Given the description of an element on the screen output the (x, y) to click on. 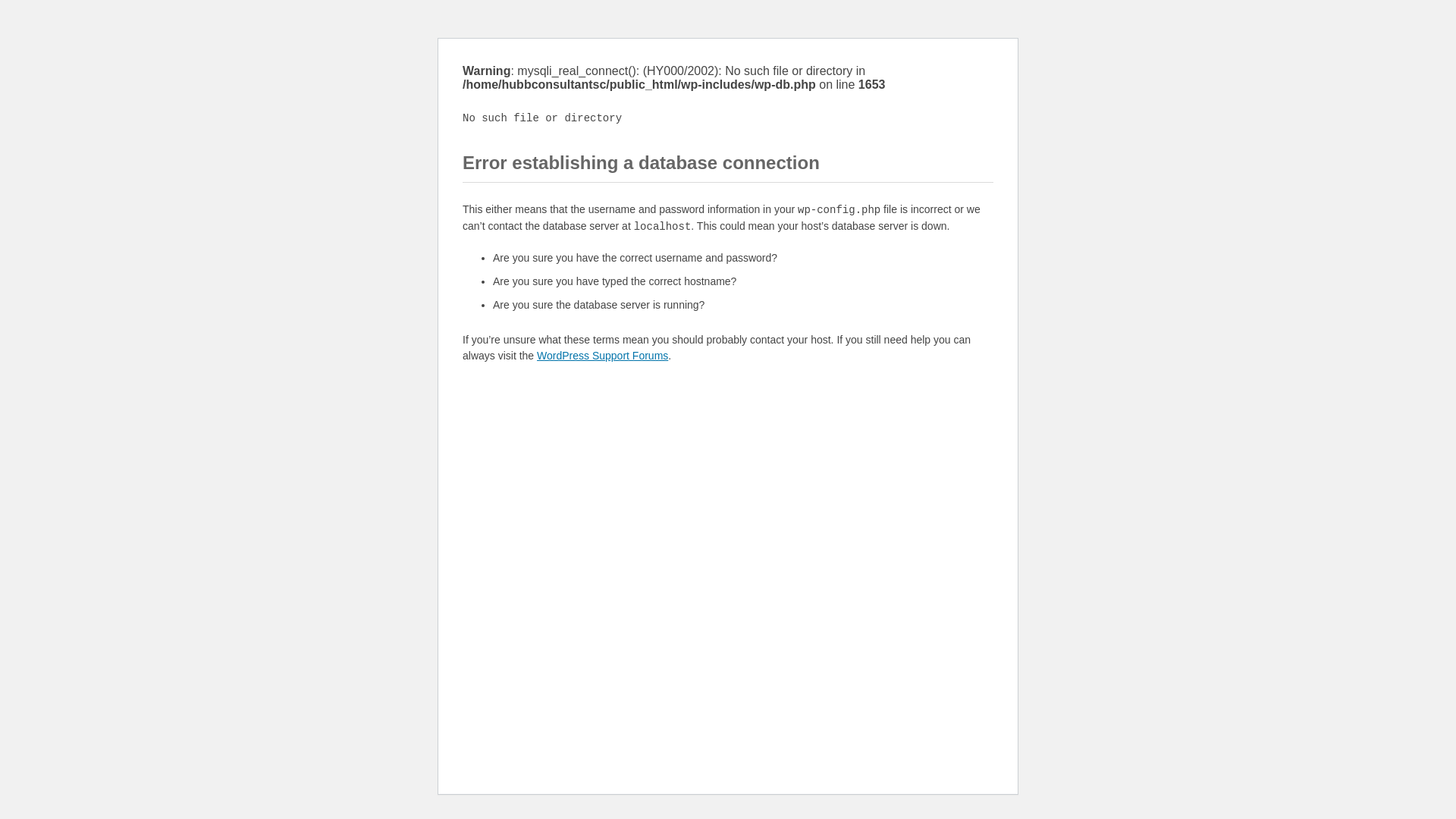
WordPress Support Forums Element type: text (602, 355)
